Given the description of an element on the screen output the (x, y) to click on. 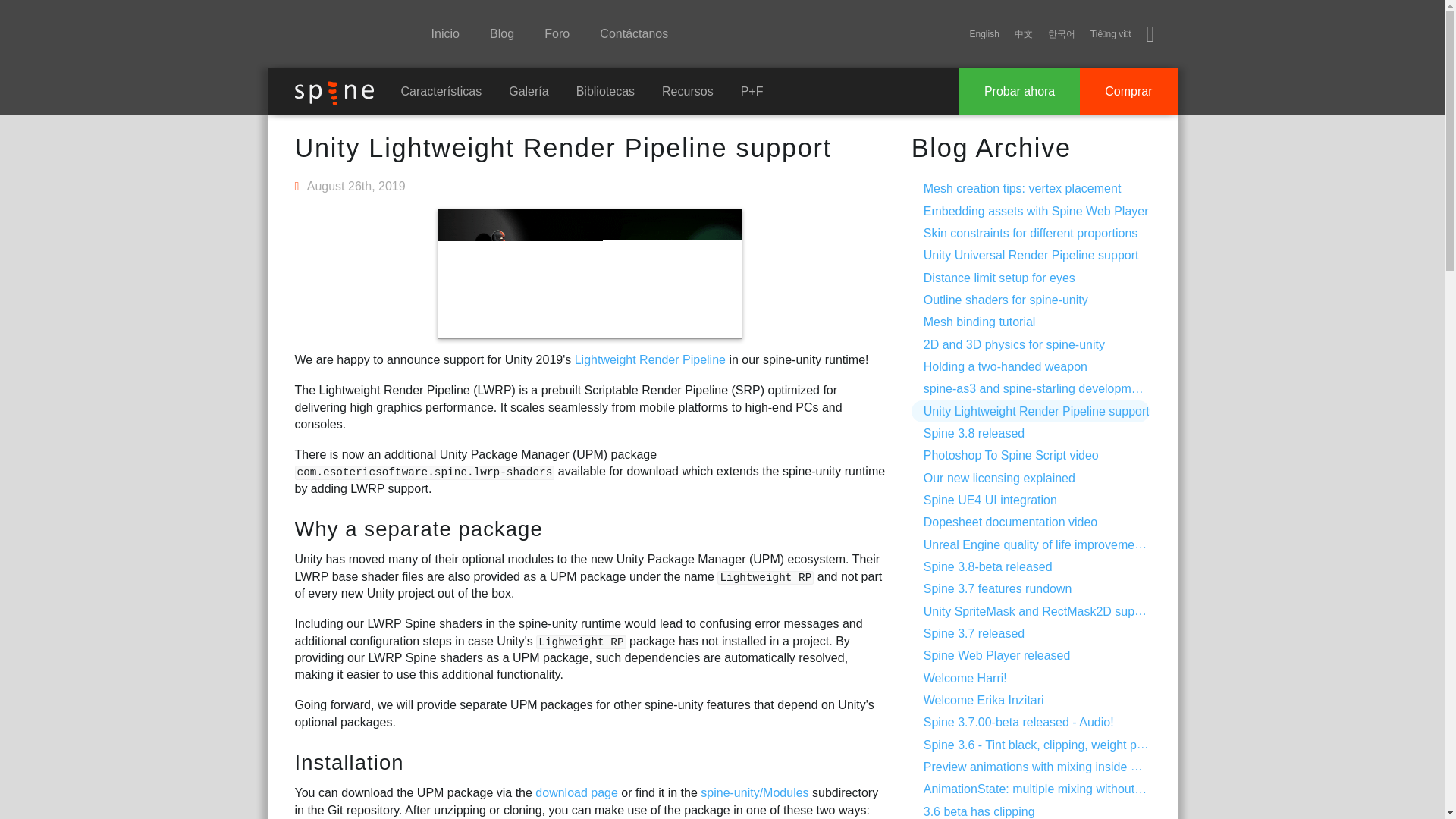
download page (576, 792)
Why a separate package (417, 528)
Lightweight Render Pipeline (650, 359)
Comprar (1128, 91)
Probar ahora (1019, 91)
Unity Lightweight Render Pipeline support (562, 147)
Recursos (686, 91)
Bibliotecas (604, 91)
Installation (348, 762)
